Given the description of an element on the screen output the (x, y) to click on. 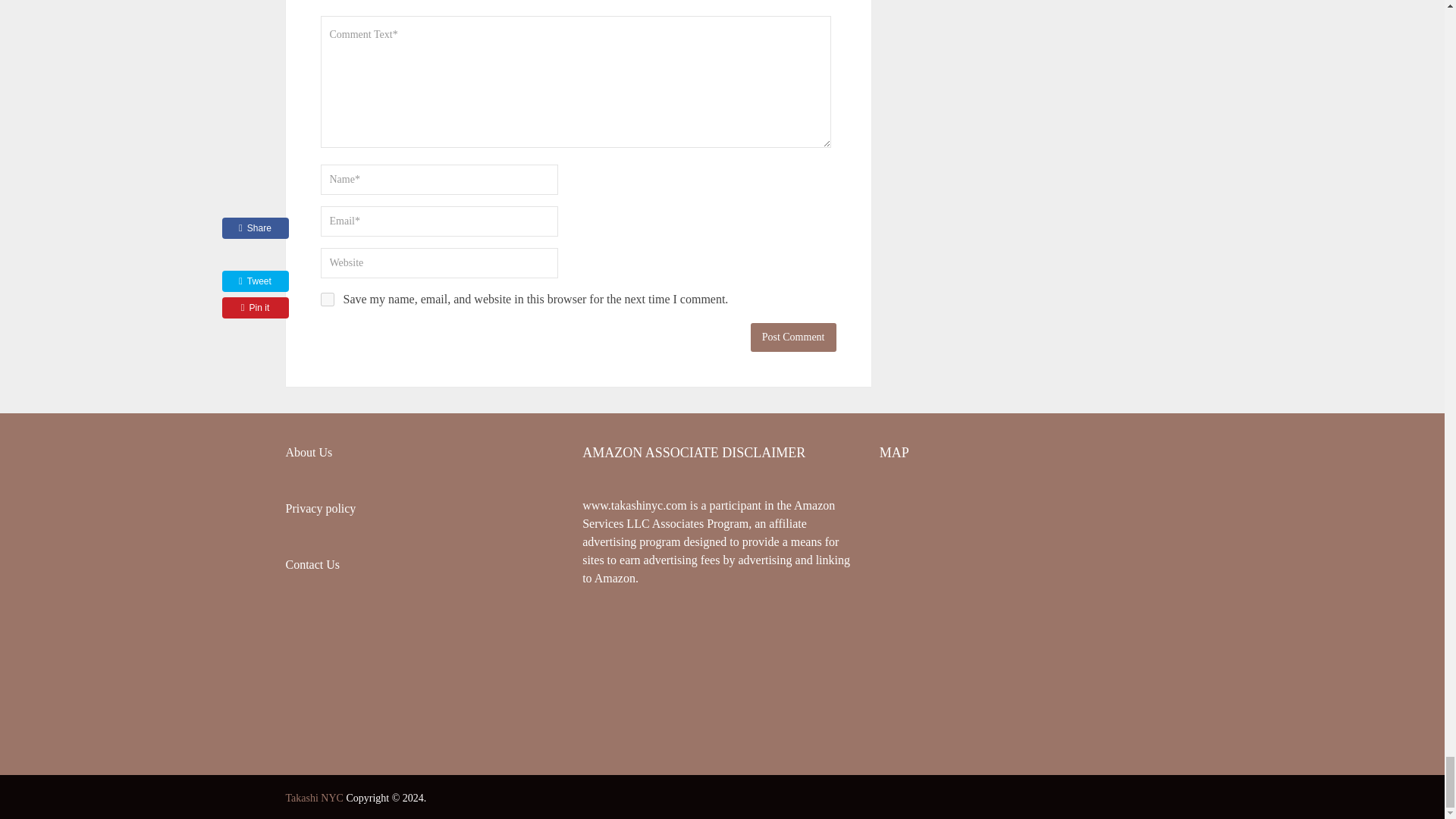
yes (326, 299)
Post Comment (793, 337)
